Given the description of an element on the screen output the (x, y) to click on. 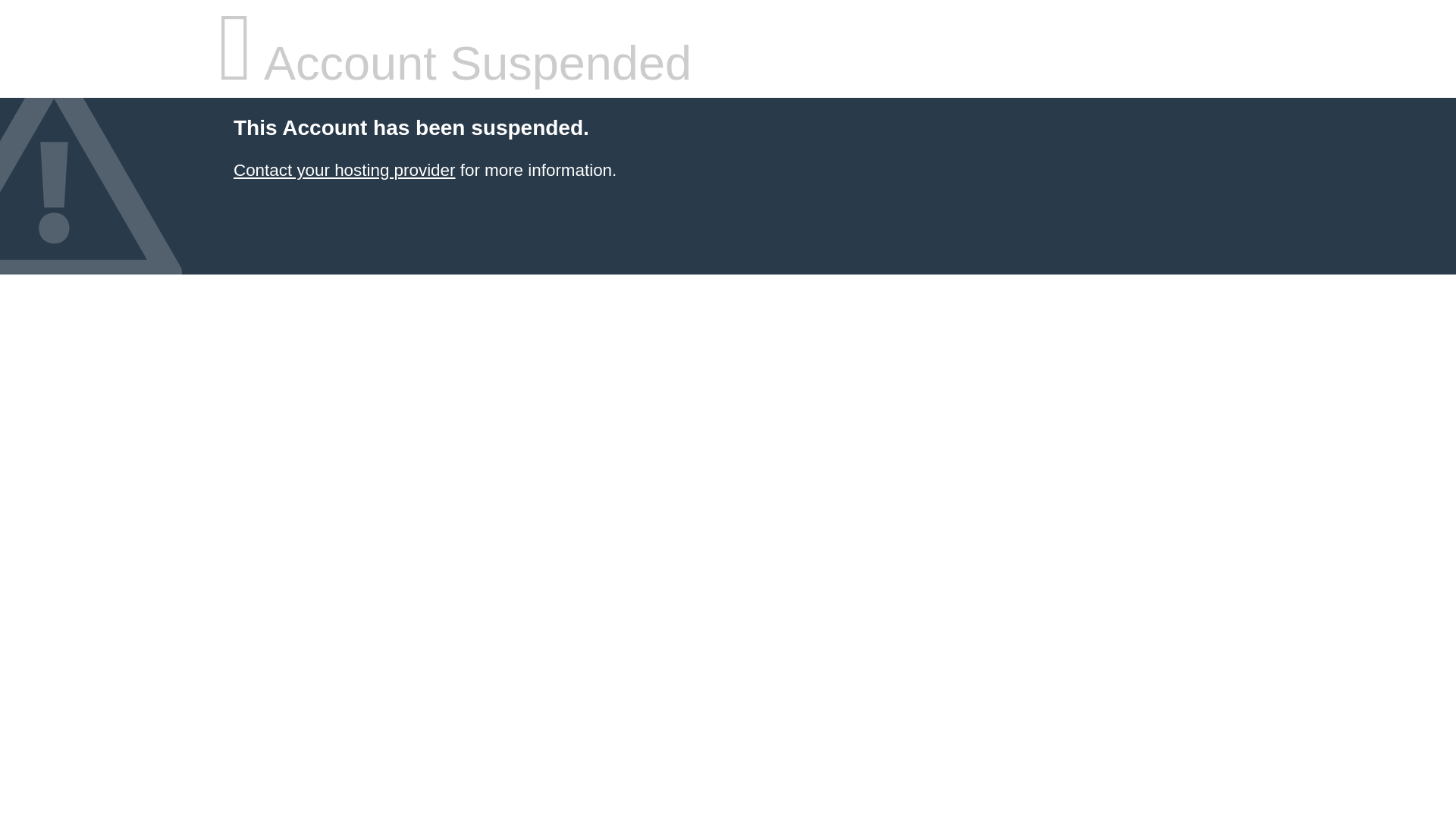
Contact your hosting provider (343, 169)
